Given the description of an element on the screen output the (x, y) to click on. 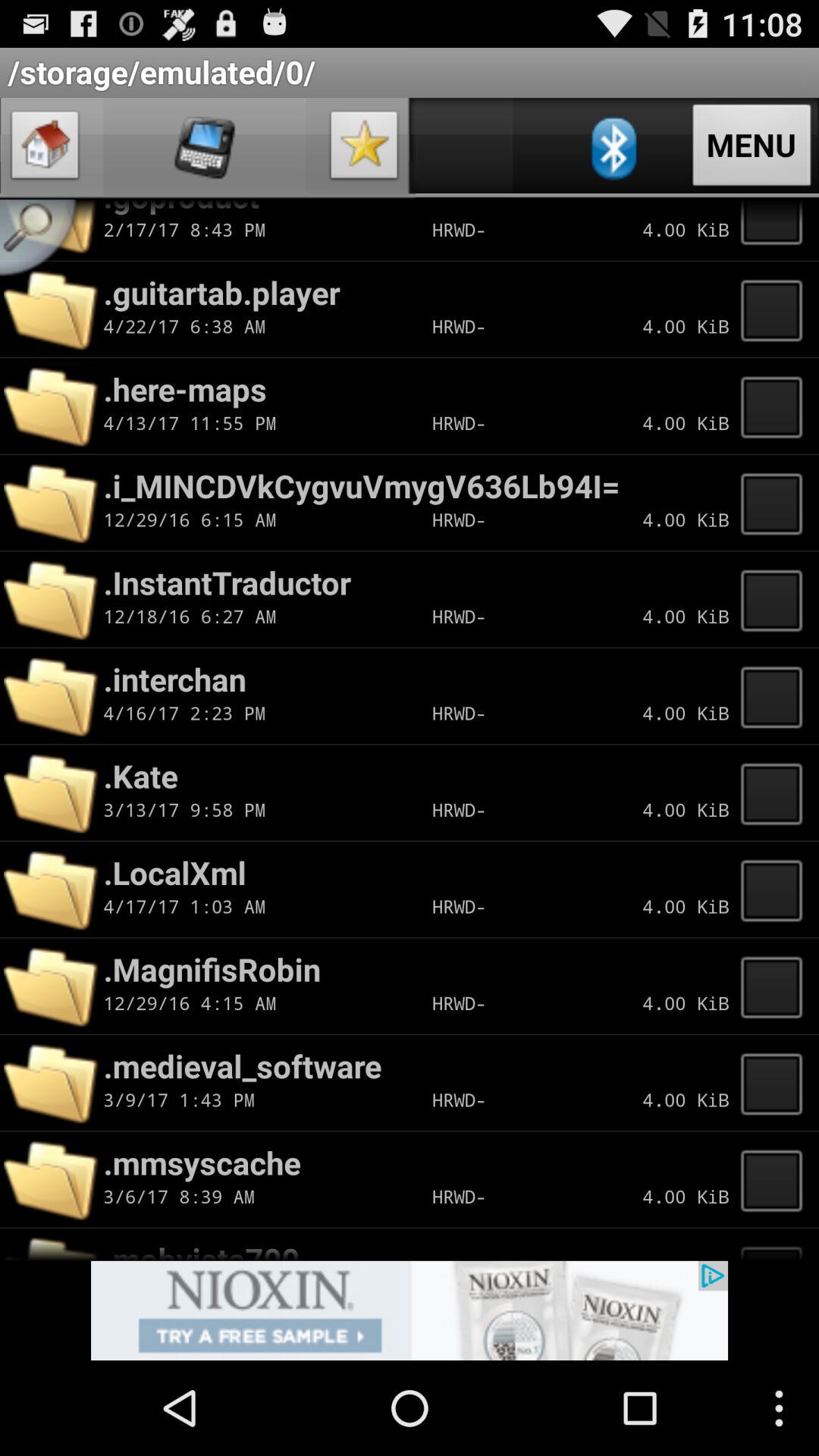
select guitartab.player folder (776, 309)
